Given the description of an element on the screen output the (x, y) to click on. 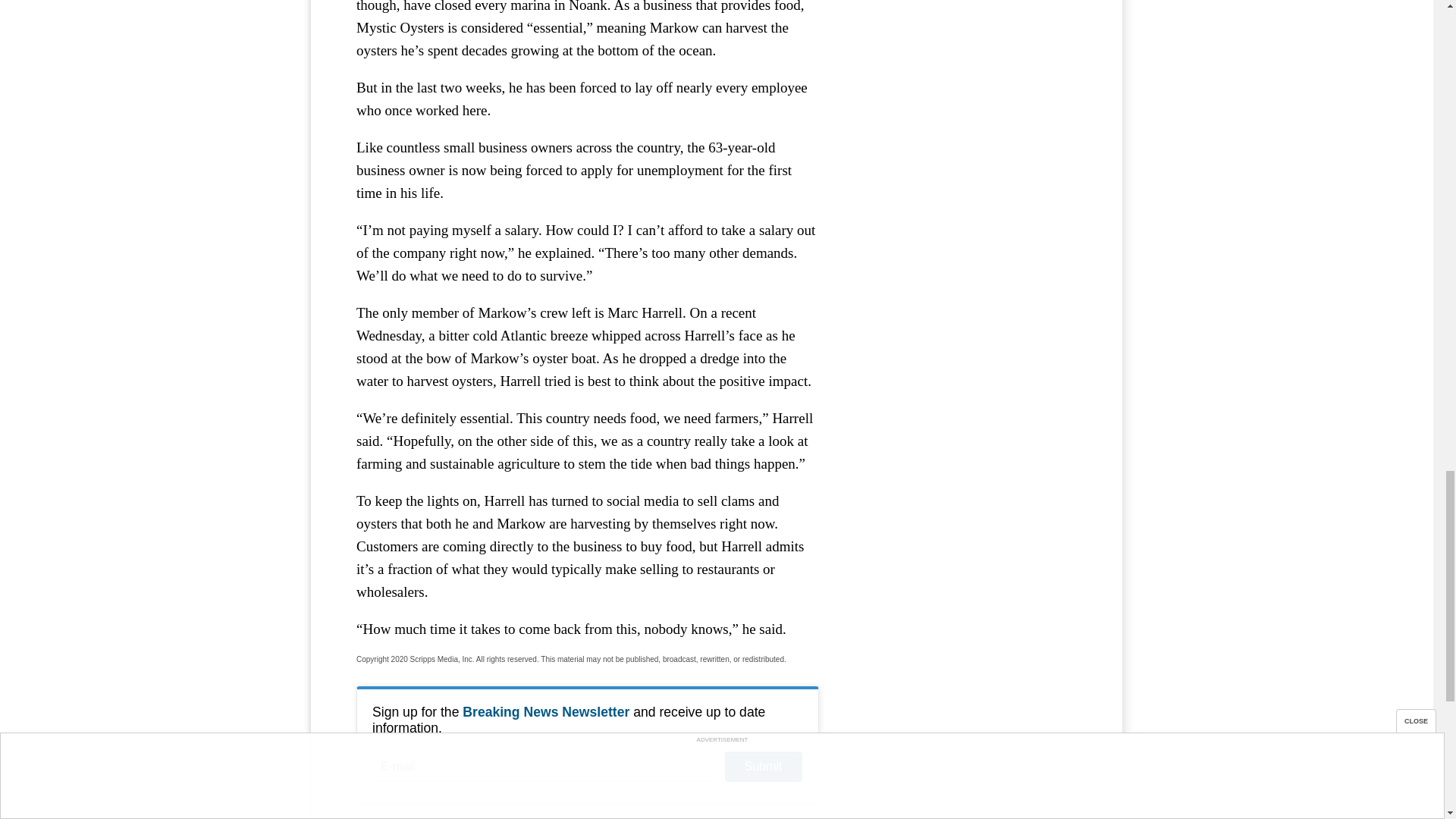
Submit (763, 766)
